Given the description of an element on the screen output the (x, y) to click on. 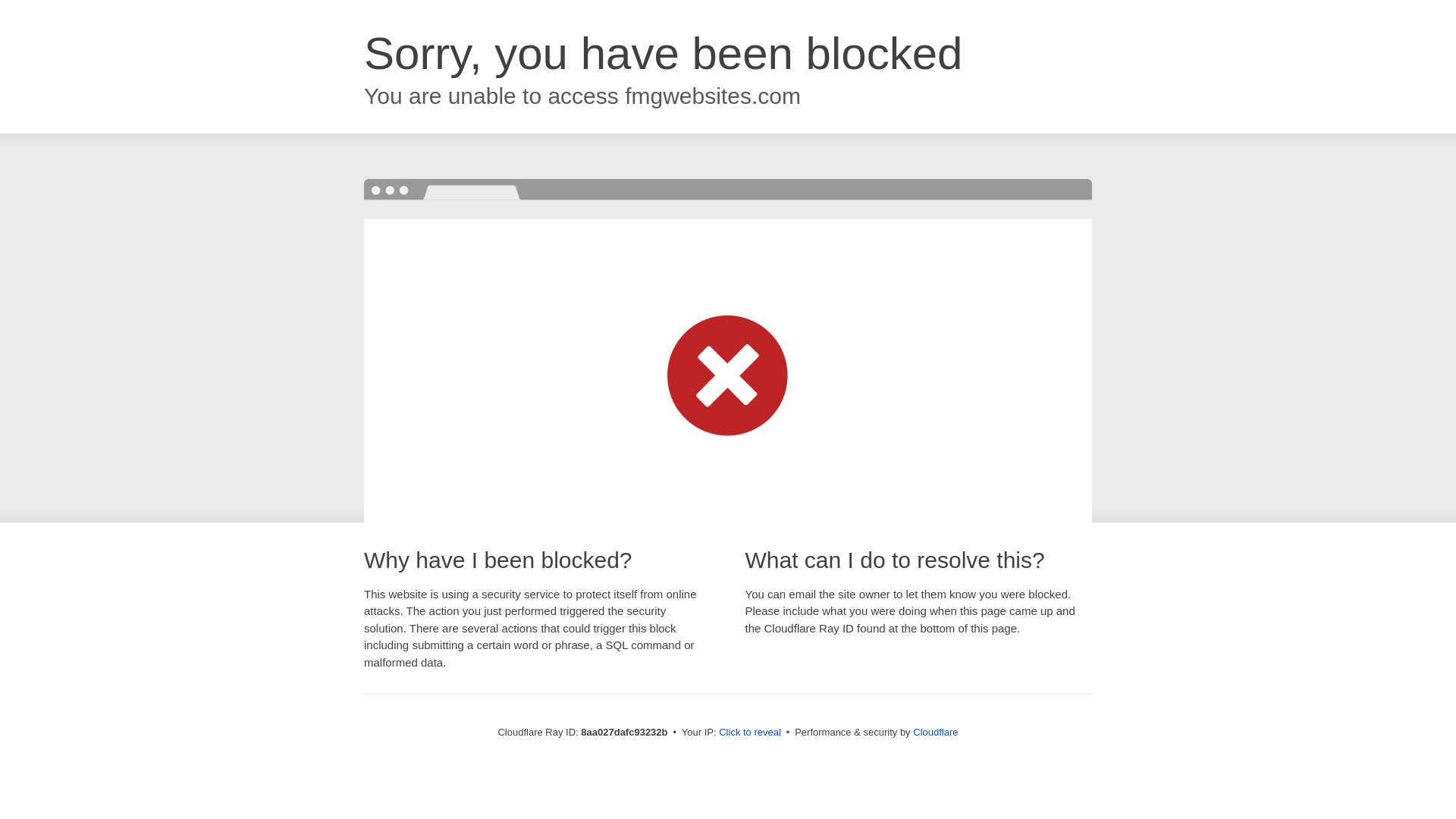
Click to reveal (749, 732)
Cloudflare (935, 731)
